Given the description of an element on the screen output the (x, y) to click on. 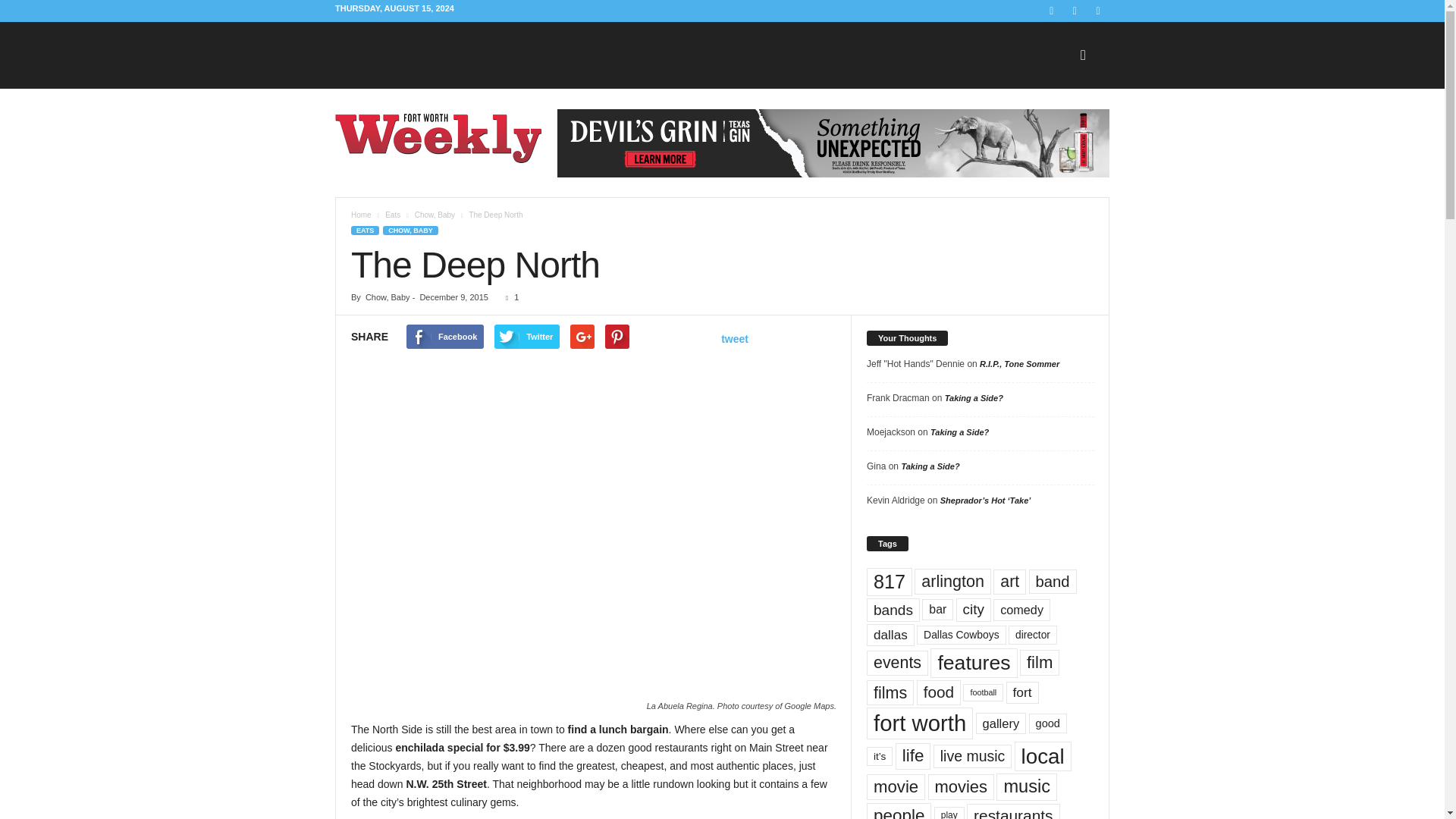
DG ad 728x90 (833, 142)
View all posts in Eats (392, 214)
Fort Worth Weekly - What is Happening in Fort Worth (437, 137)
View all posts in Chow, Baby (434, 214)
